Given the description of an element on the screen output the (x, y) to click on. 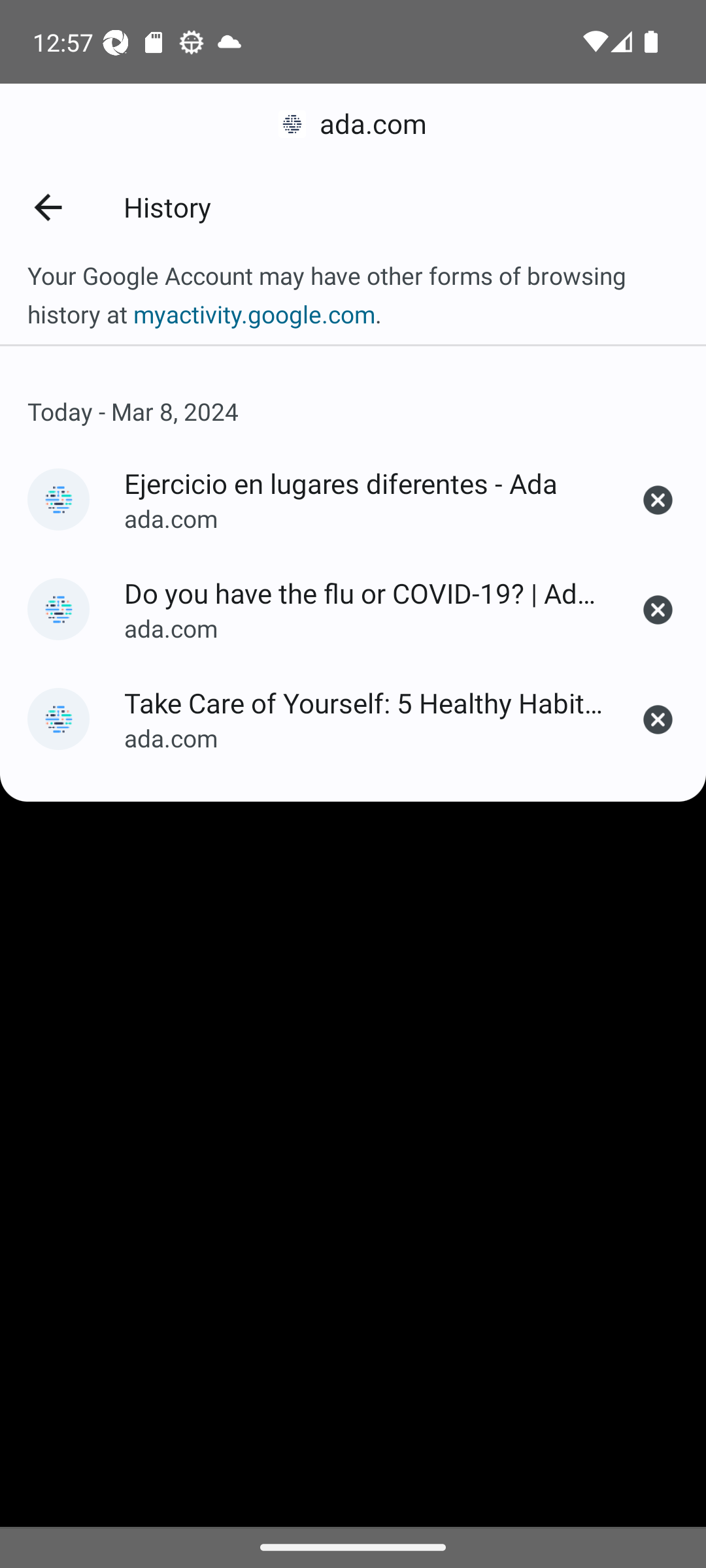
ada.com (353, 124)
Back (47, 206)
Ejercicio en lugares diferentes - Ada Remove (657, 500)
